Given the description of an element on the screen output the (x, y) to click on. 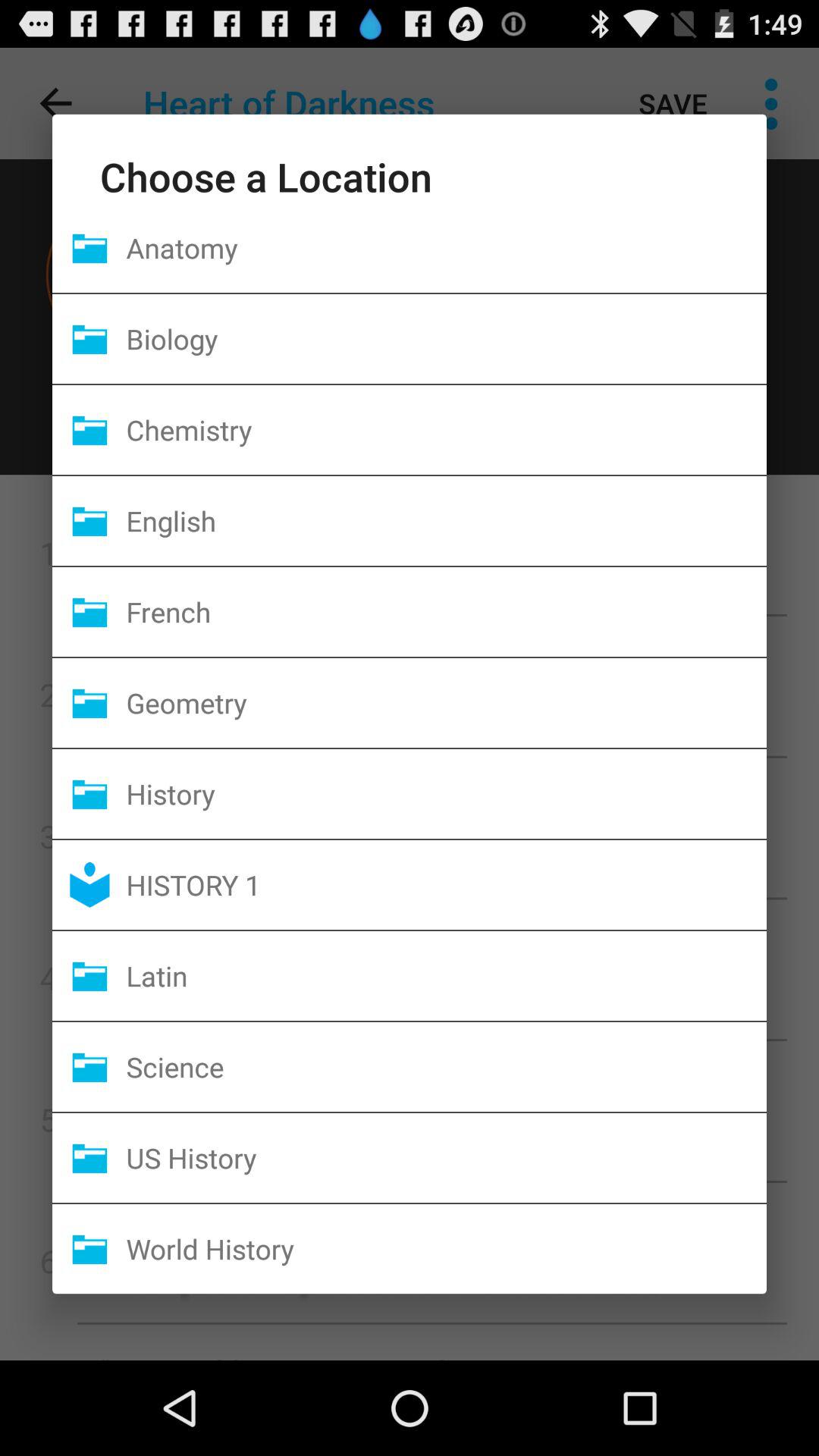
flip until the world history icon (446, 1248)
